Given the description of an element on the screen output the (x, y) to click on. 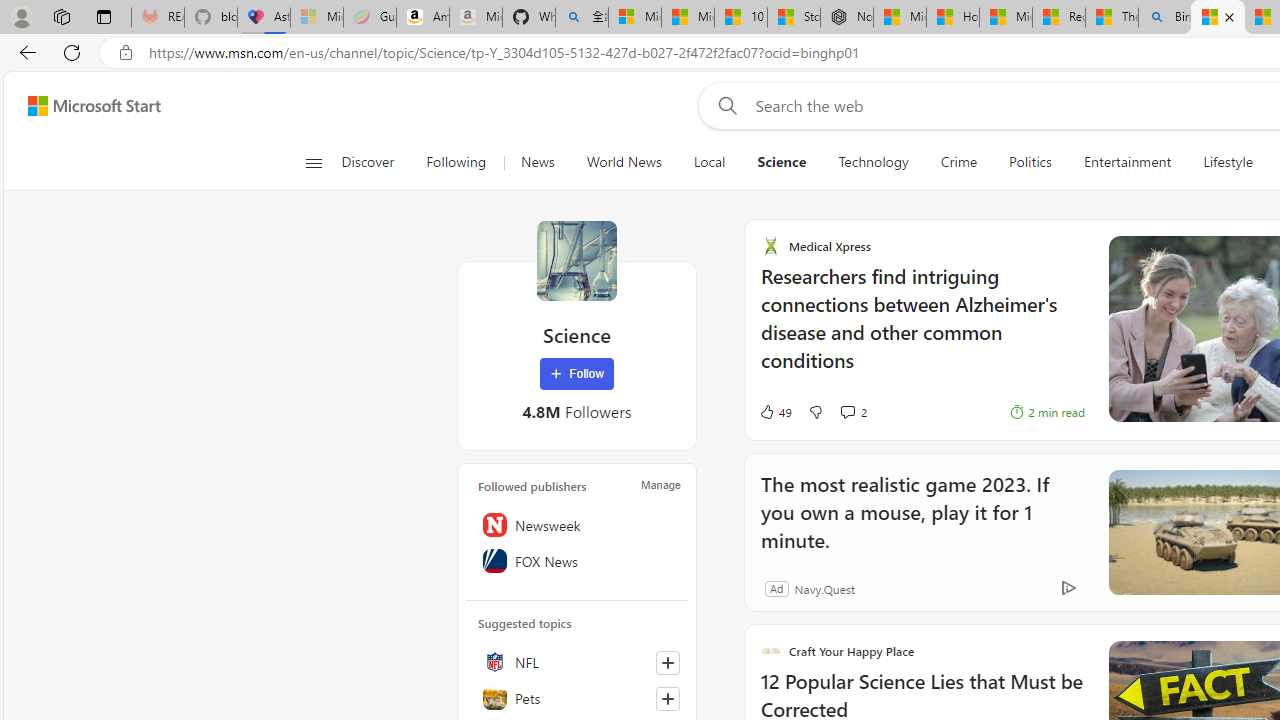
Bing (1165, 17)
